Given the description of an element on the screen output the (x, y) to click on. 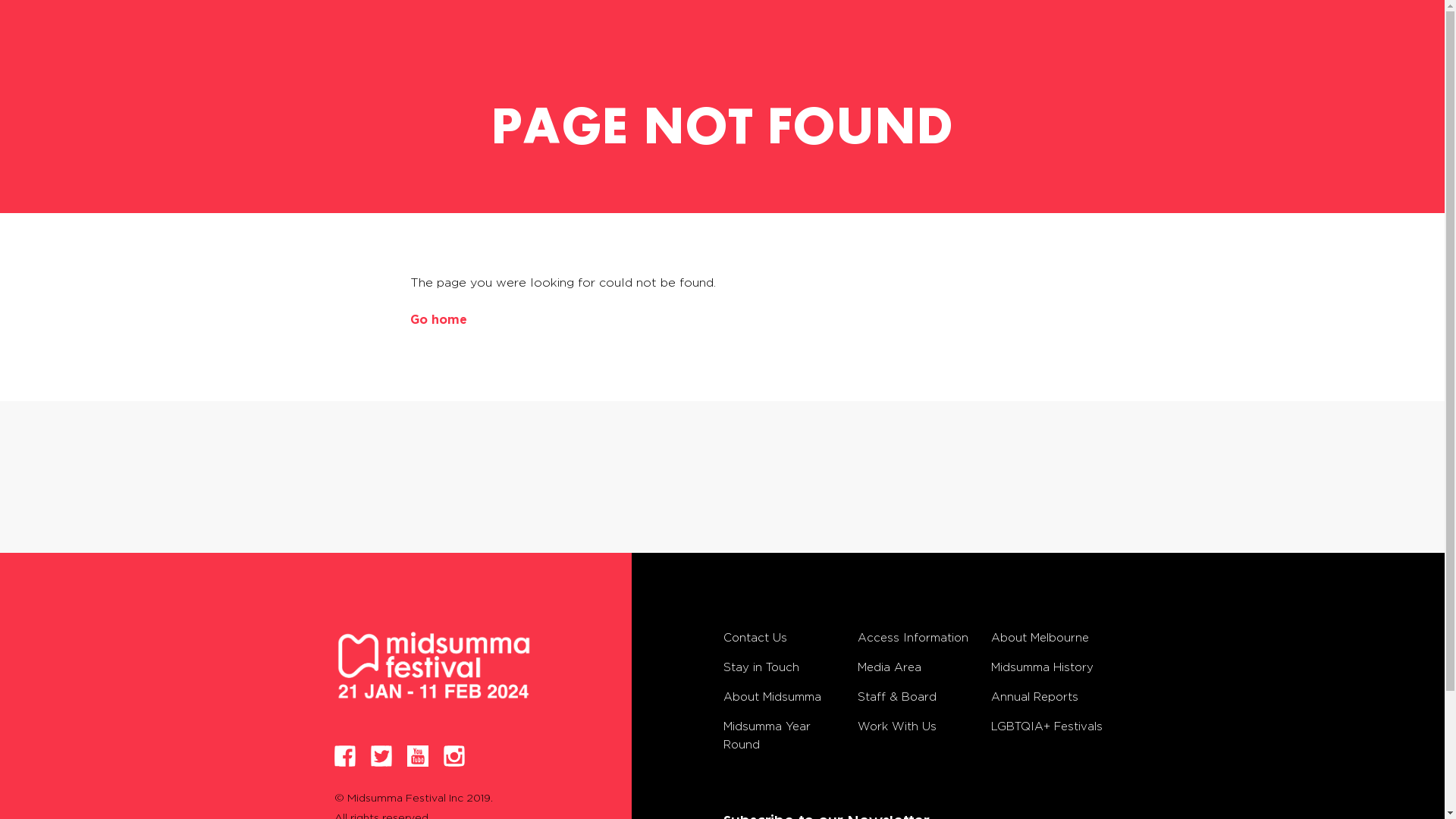
About Melbourne Element type: text (1039, 637)
Twitter logo Element type: text (381, 755)
Work With Us Element type: text (896, 725)
Midsumma Year Round Element type: text (766, 734)
Instagram logo Element type: text (453, 755)
Media Area Element type: text (889, 666)
Annual Reports Element type: text (1034, 696)
Contact Us Element type: text (755, 637)
About Midsumma Element type: text (772, 696)
LGBTQIA+ Festivals Element type: text (1046, 725)
Stay in Touch Element type: text (761, 666)
Access Information Element type: text (912, 637)
Go home Element type: text (438, 319)
Midsumma History Element type: text (1042, 666)
YouTube logo Element type: text (417, 755)
Facebook logo Element type: text (344, 755)
Staff & Board Element type: text (896, 696)
